Given the description of an element on the screen output the (x, y) to click on. 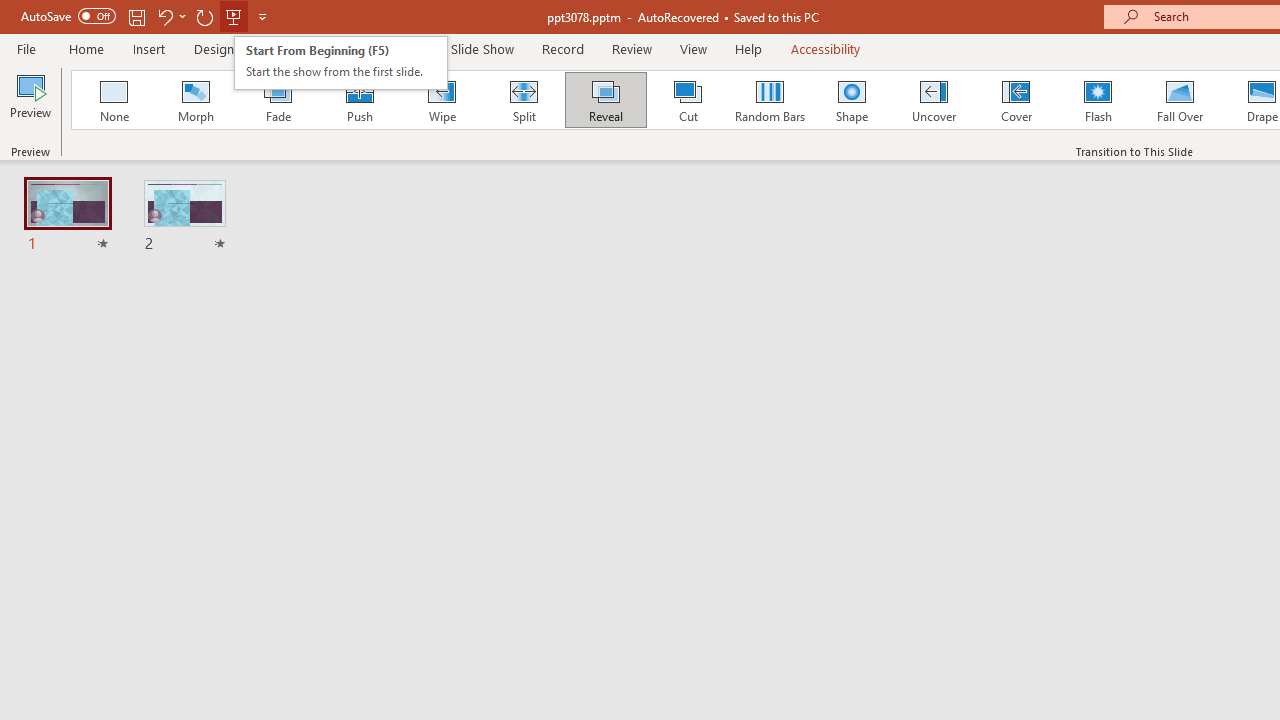
Shape (852, 100)
Split (523, 100)
Flash (1098, 100)
Morph (195, 100)
